Given the description of an element on the screen output the (x, y) to click on. 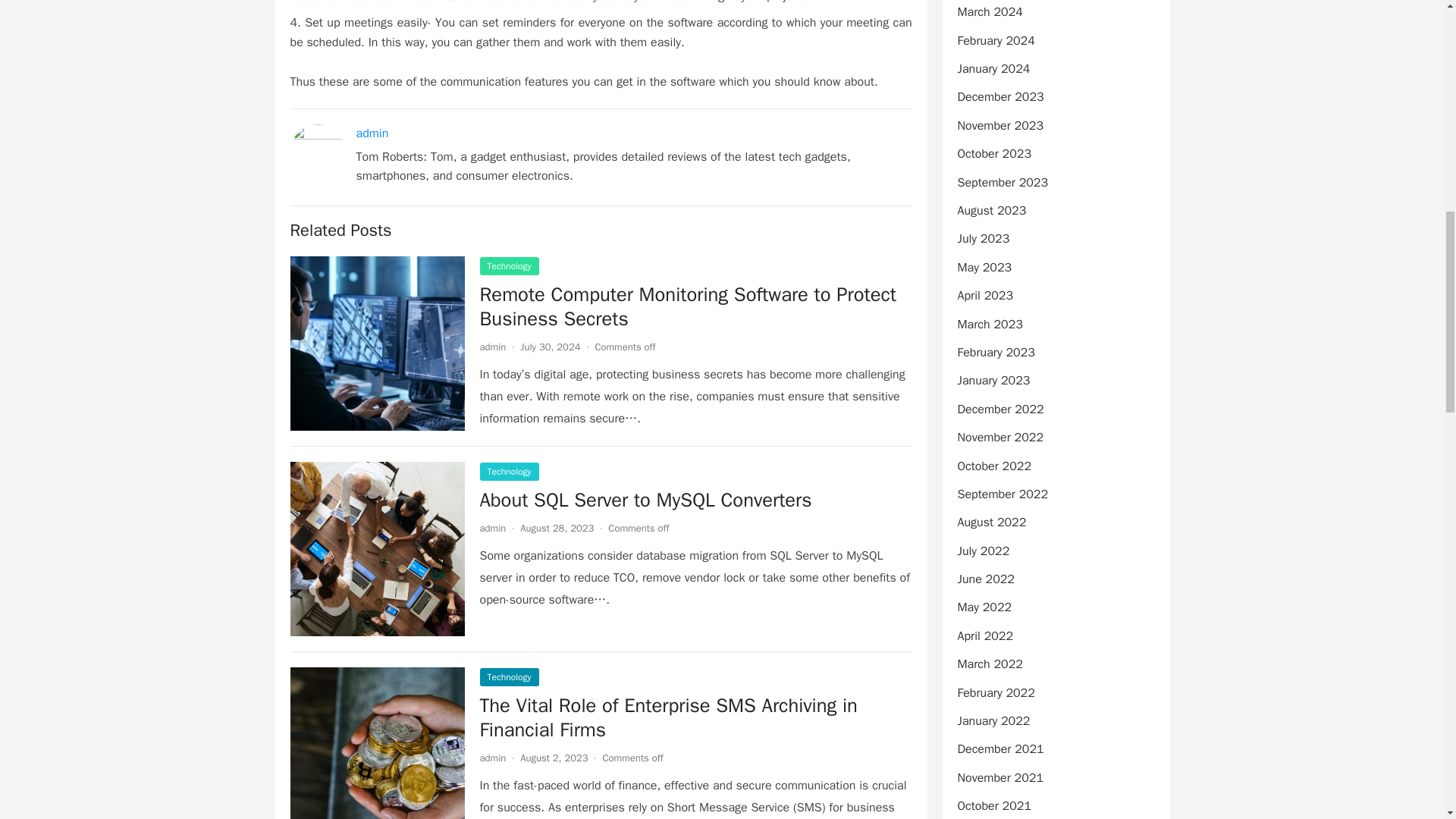
admin (492, 527)
Posts by admin (492, 346)
Technology (508, 677)
Posts by admin (492, 527)
admin (372, 133)
Posts by admin (492, 757)
Technology (508, 471)
Technology (508, 266)
admin (492, 757)
